Given the description of an element on the screen output the (x, y) to click on. 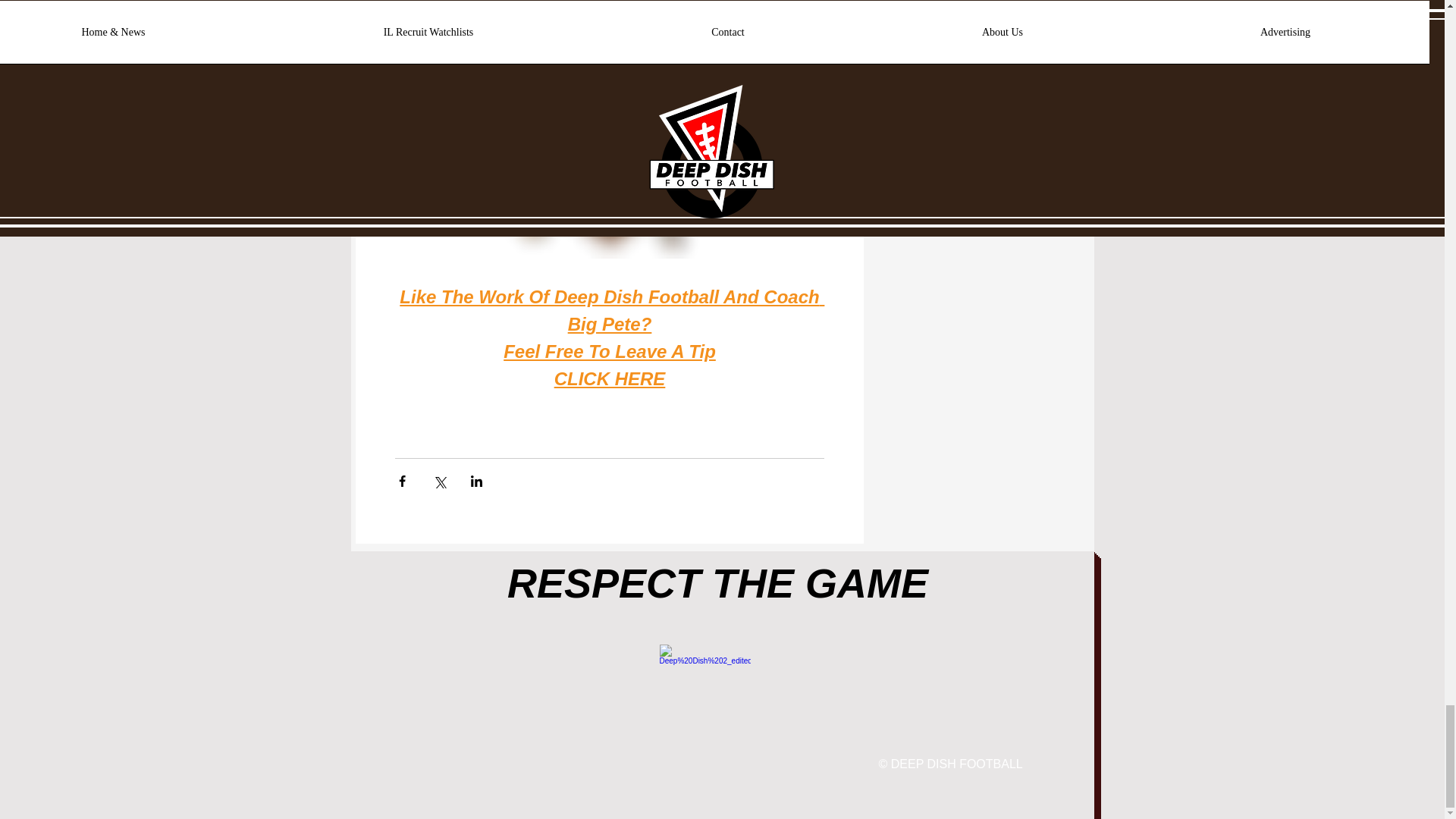
CLICK HERE (609, 378)
Feel Free To Leave A Tip (609, 351)
Like The Work Of Deep Dish Football And Coach Big Pete? (611, 310)
